Given the description of an element on the screen output the (x, y) to click on. 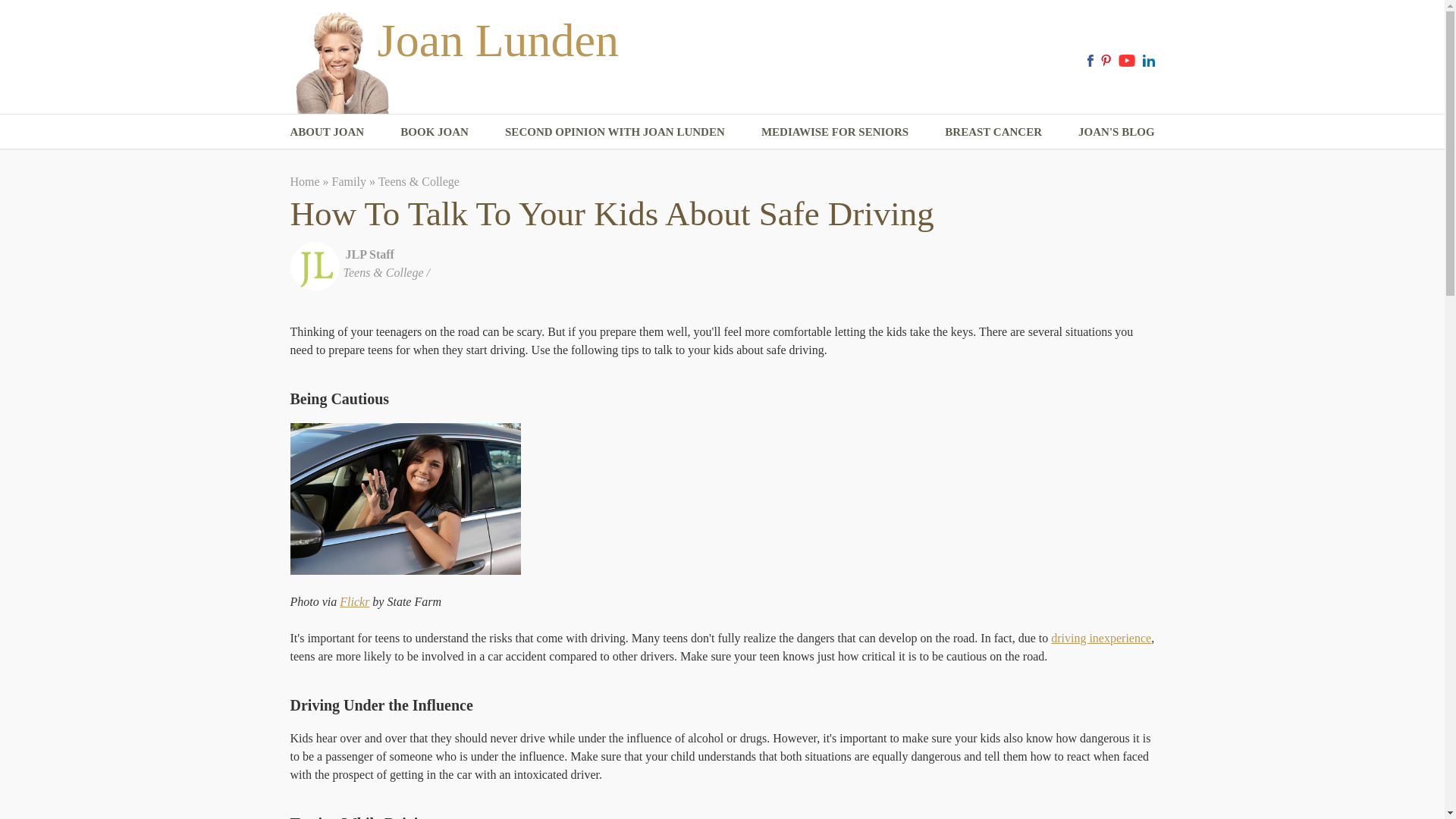
BREAST CANCER (993, 132)
BOOK JOAN (434, 132)
SECOND OPINION WITH JOAN LUNDEN (615, 132)
JOAN'S BLOG (1116, 132)
ABOUT JOAN (326, 132)
MEDIAWISE FOR SENIORS (834, 132)
